Given the description of an element on the screen output the (x, y) to click on. 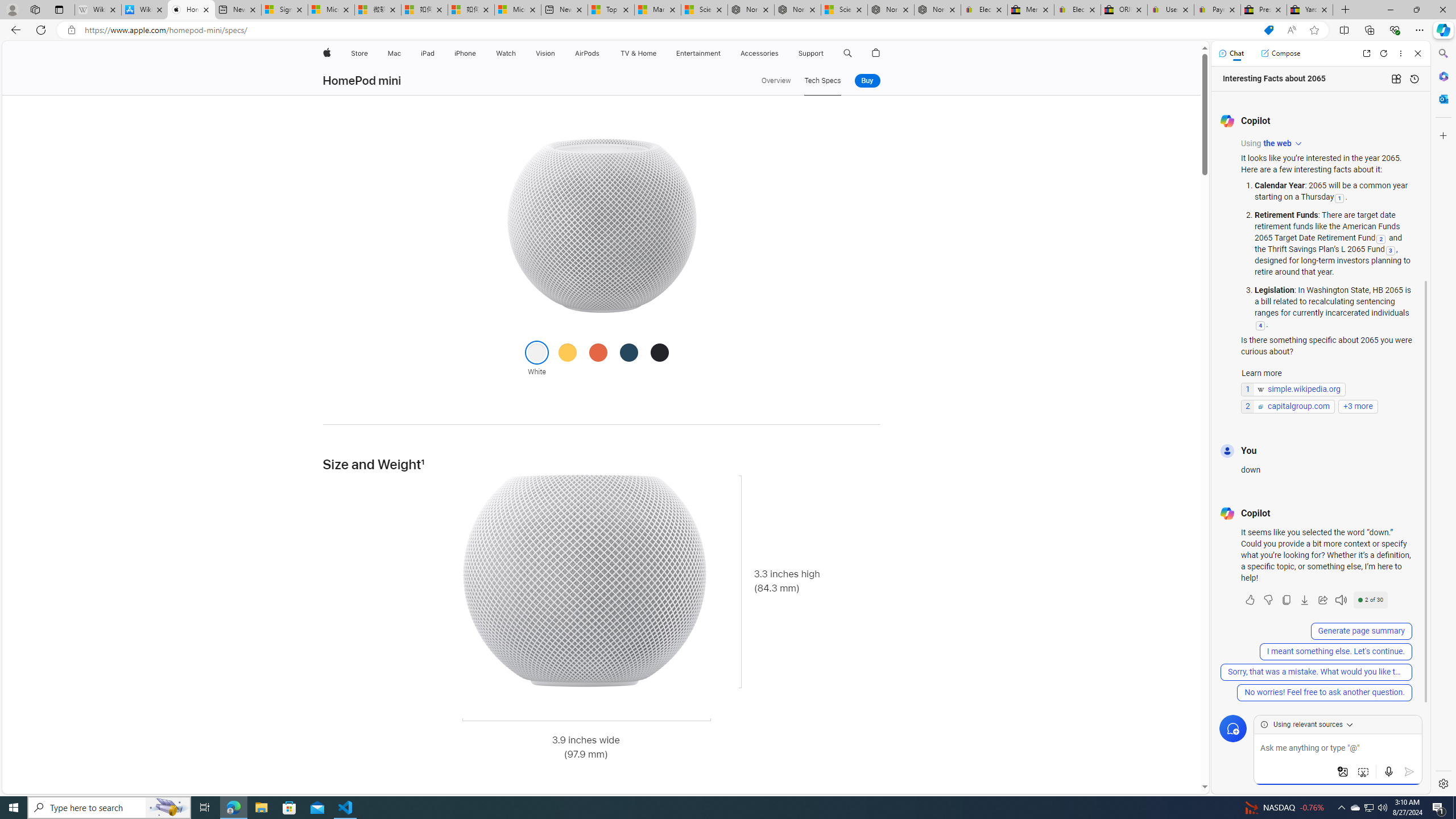
iPad (427, 53)
Accessories (759, 53)
Compose (1280, 52)
Apple (325, 53)
Apple (325, 53)
